Given the description of an element on the screen output the (x, y) to click on. 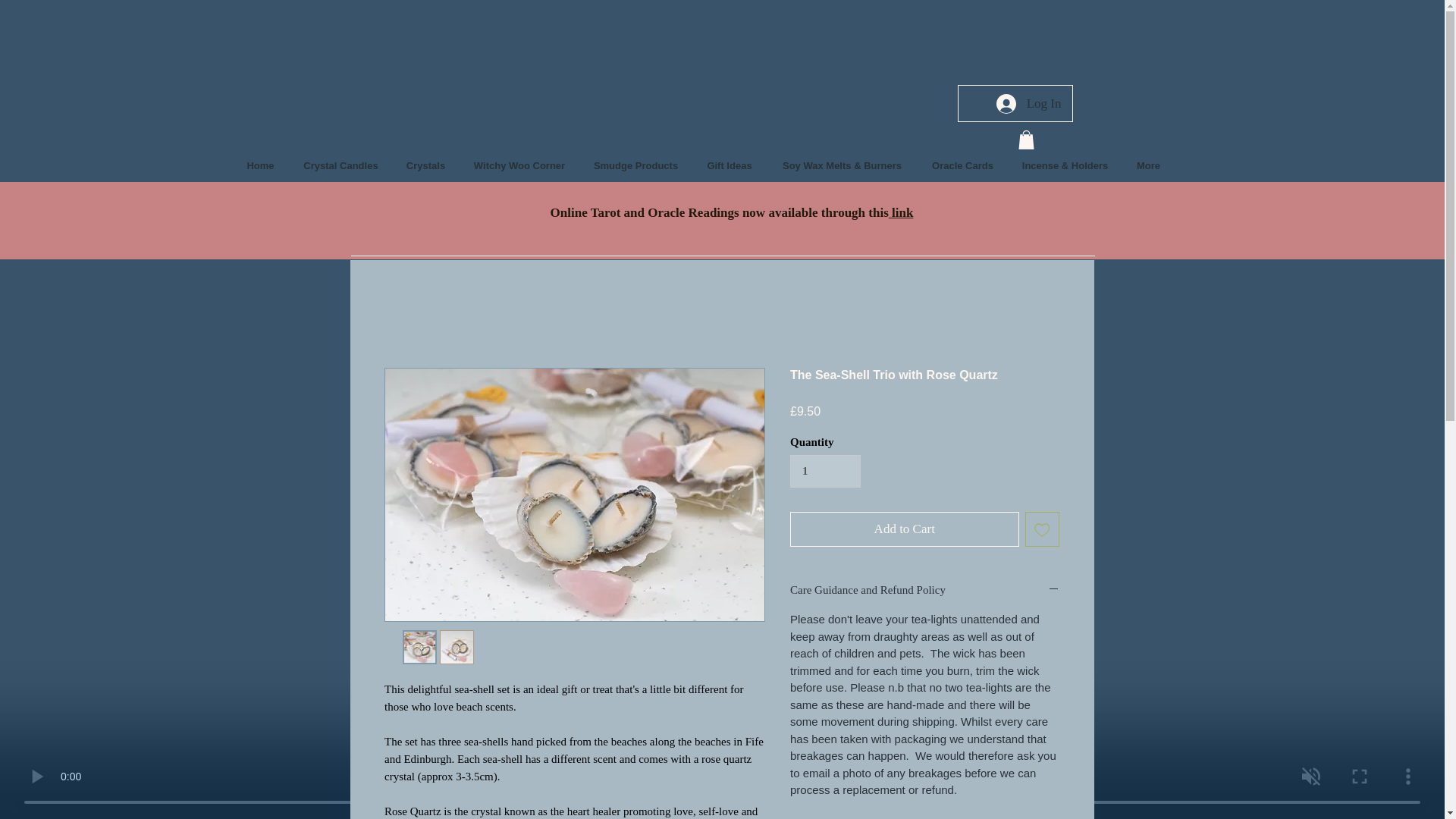
Care Guidance and Refund Policy (924, 590)
Oracle Cards (963, 165)
Witchy Woo Corner (519, 165)
Log In (1028, 103)
Gift Ideas (729, 165)
Crystals (426, 165)
Add to Cart (904, 529)
link (901, 212)
Home (260, 165)
1 (825, 471)
Smudge Products (635, 165)
Crystal Candles (341, 165)
